Given the description of an element on the screen output the (x, y) to click on. 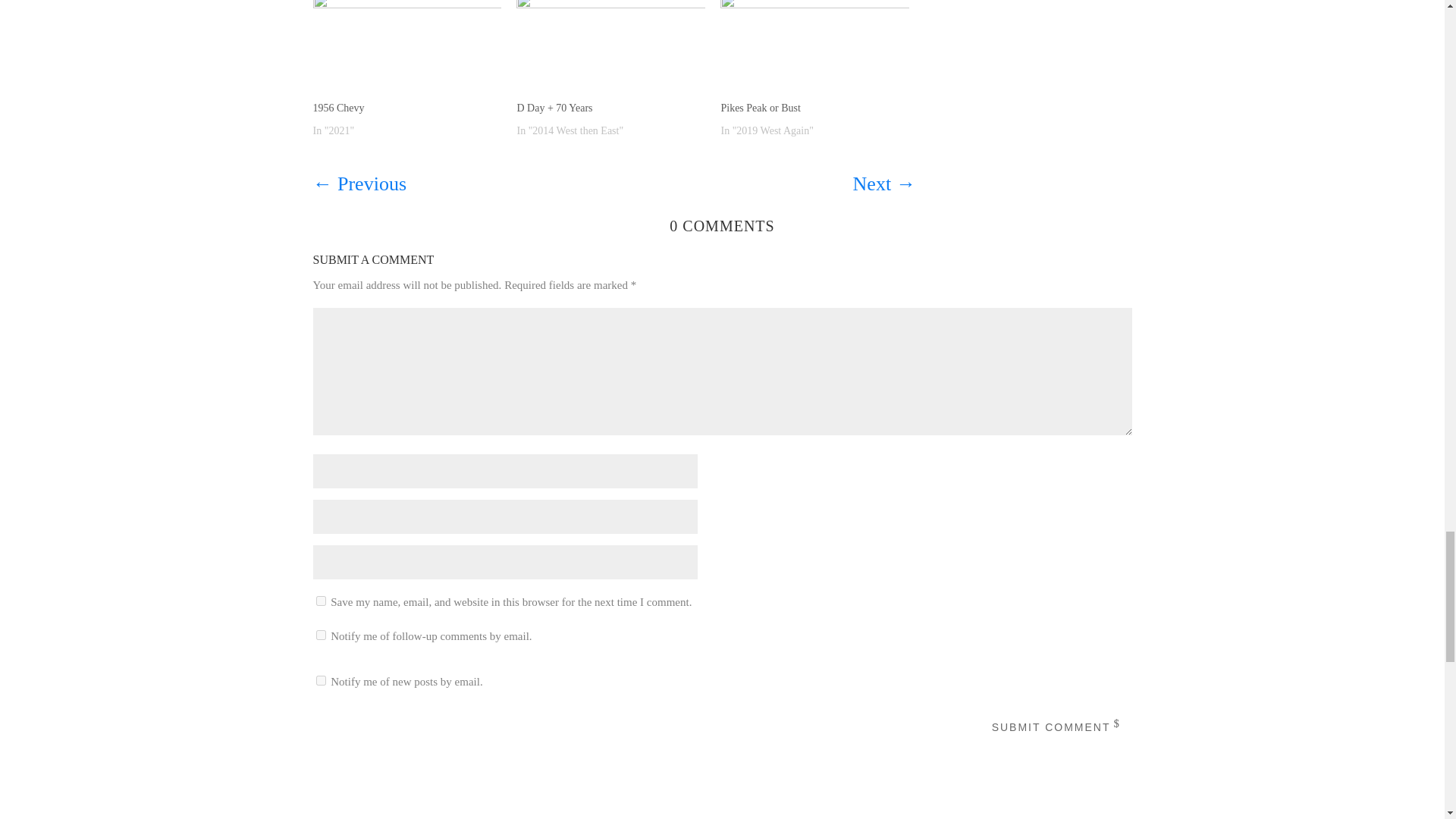
1956 Chevy (338, 107)
subscribe (319, 634)
Pikes Peak or Bust (814, 50)
yes (319, 601)
subscribe (319, 680)
1956 Chevy (406, 50)
Pikes Peak or Bust (759, 107)
